Given the description of an element on the screen output the (x, y) to click on. 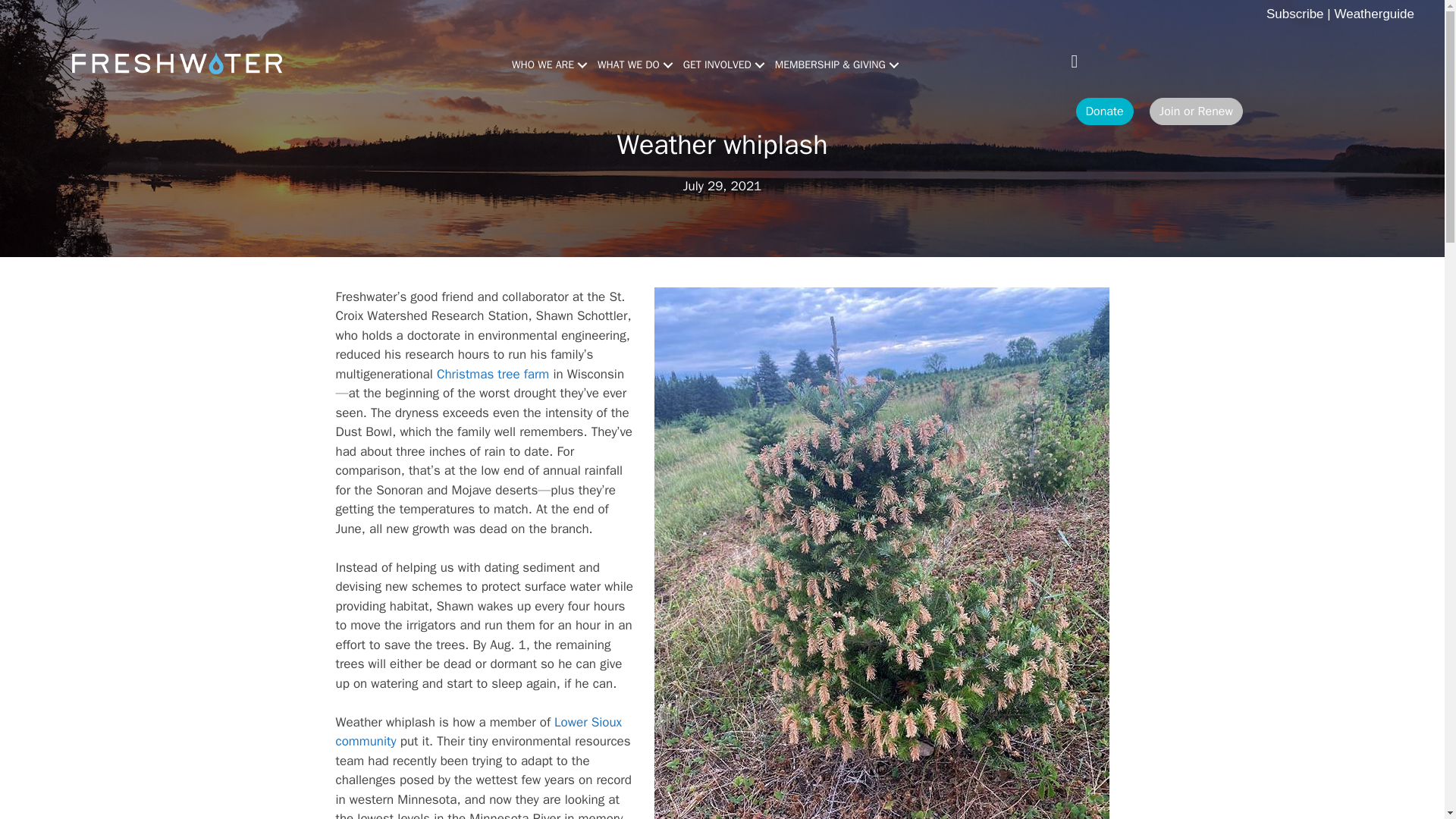
Subscribe (1294, 13)
GET INVOLVED (722, 64)
Weatherguide (1373, 13)
WHAT WE DO (634, 64)
WHO WE ARE (548, 64)
